Given the description of an element on the screen output the (x, y) to click on. 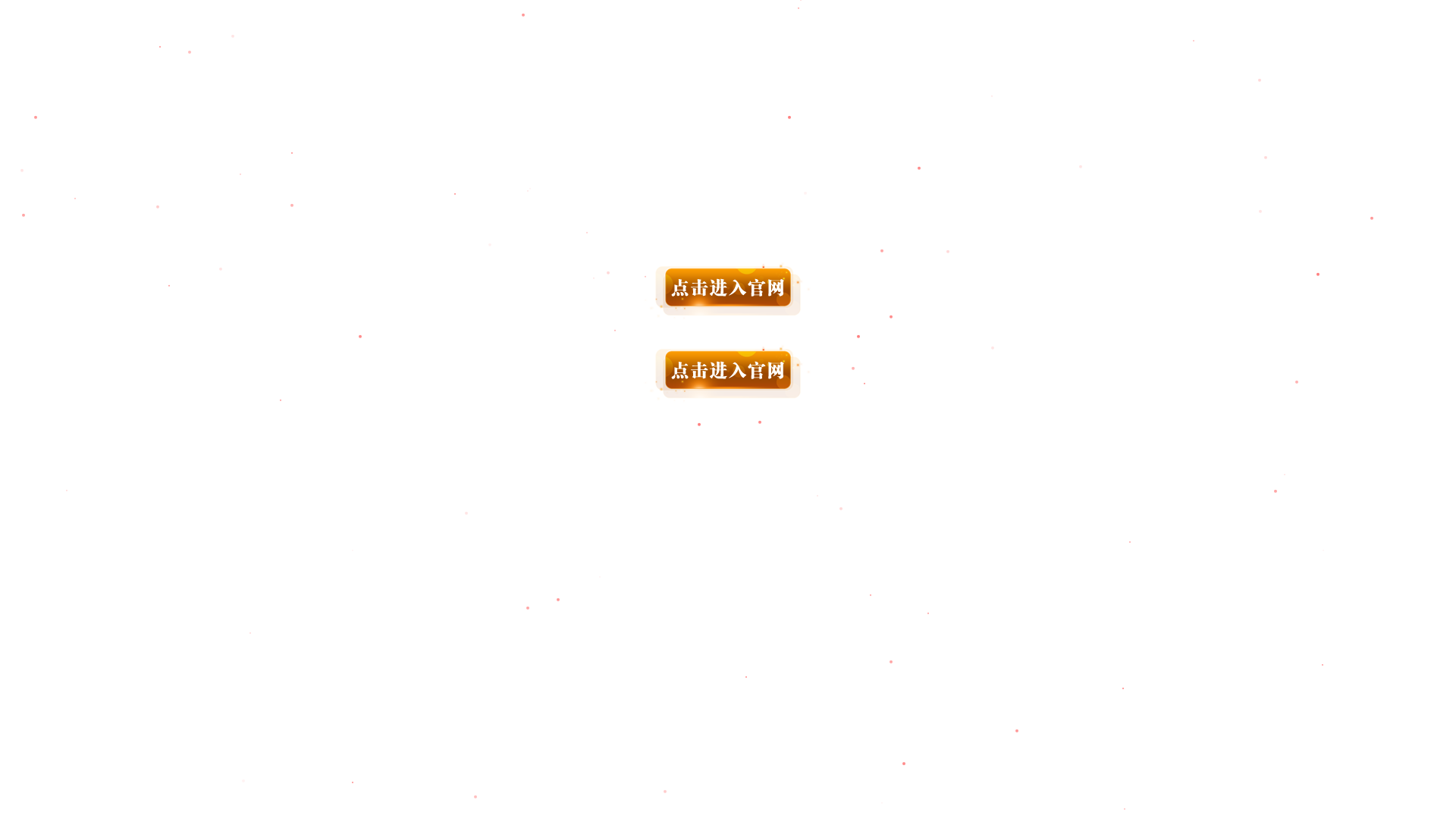
  Element type: text (727, 323)
